Given the description of an element on the screen output the (x, y) to click on. 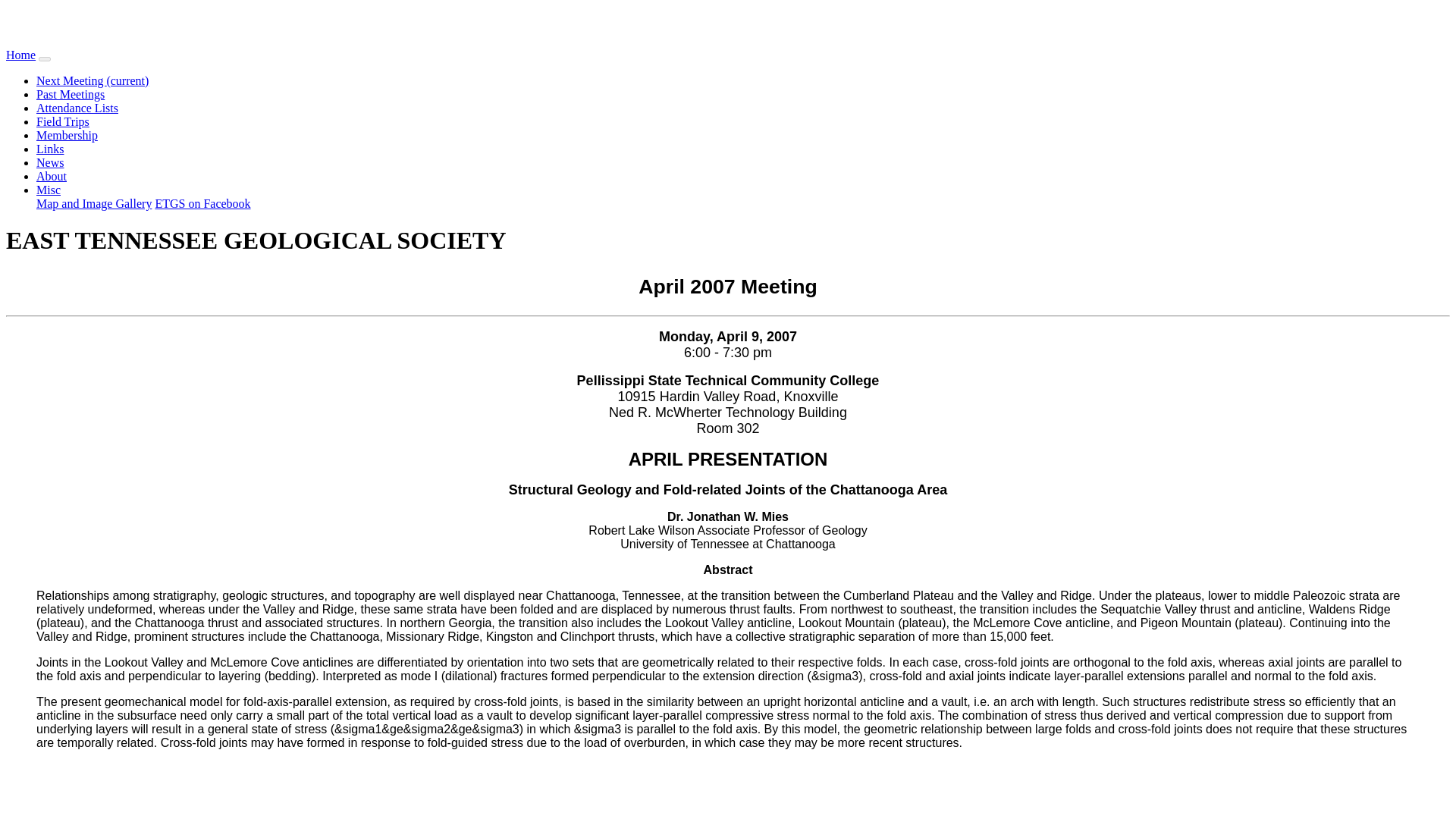
ETGS on Facebook (202, 203)
Field Trips (62, 121)
Membership (66, 134)
Home (19, 54)
Map and Image Gallery (93, 203)
About (51, 175)
News (50, 162)
Past Meetings (70, 93)
Misc (48, 189)
Links (50, 148)
